Given the description of an element on the screen output the (x, y) to click on. 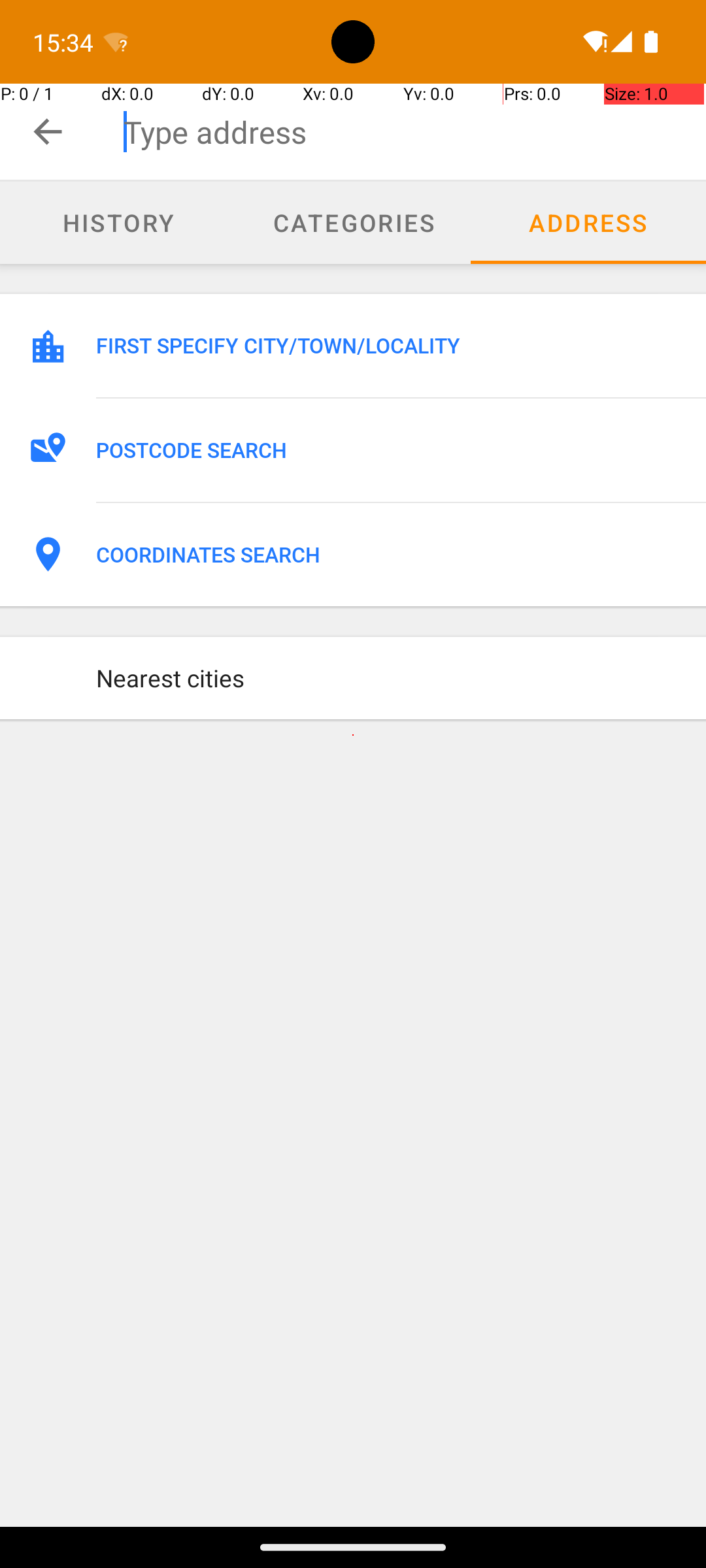
Type address Element type: android.widget.EditText (414, 131)
FIRST SPECIFY CITY/TOWN/LOCALITY Element type: android.widget.TextView (387, 345)
POSTCODE SEARCH Element type: android.widget.TextView (387, 450)
COORDINATES SEARCH Element type: android.widget.TextView (387, 554)
Nearest cities Element type: android.widget.TextView (387, 678)
